Given the description of an element on the screen output the (x, y) to click on. 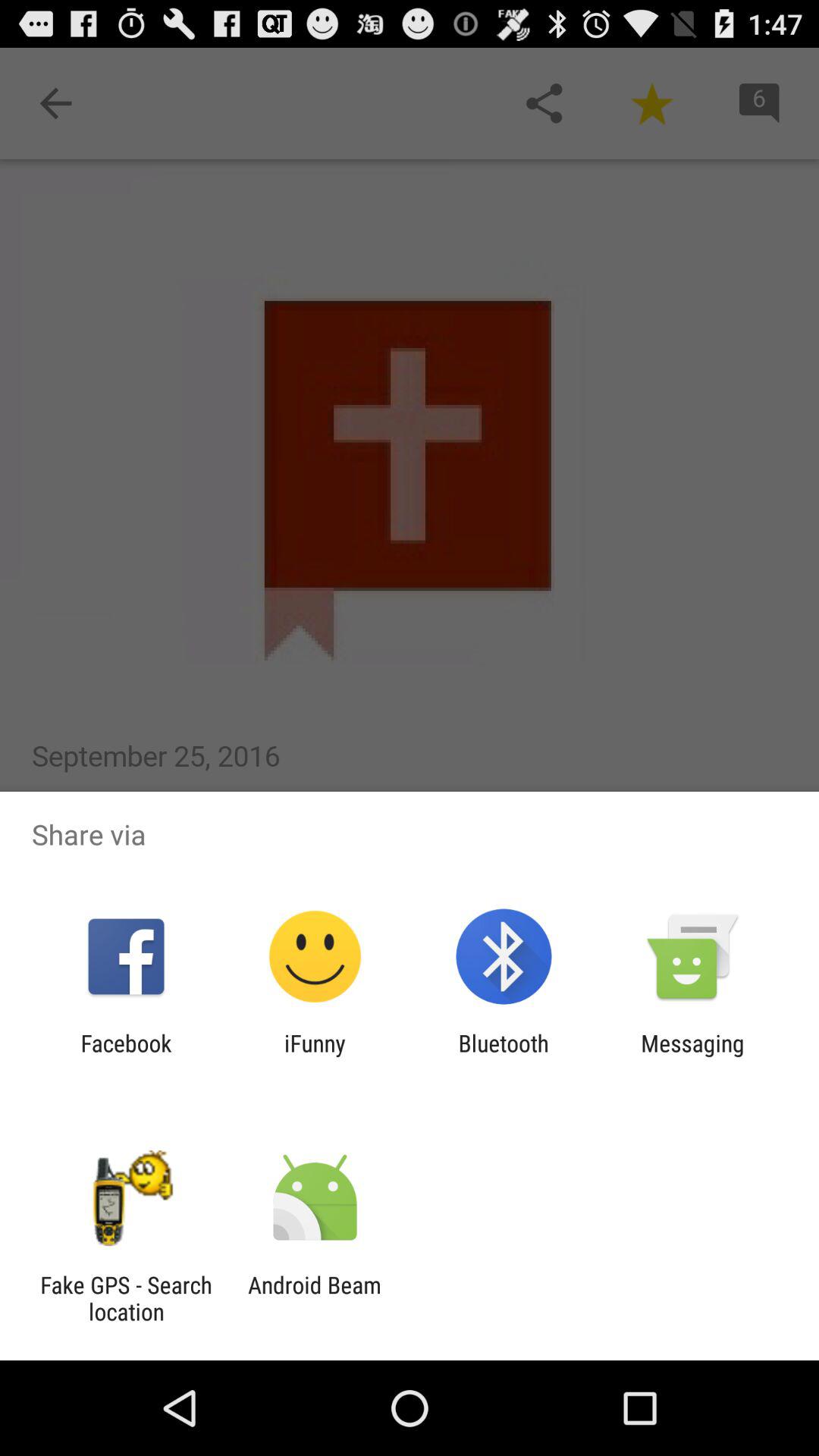
swipe until the bluetooth icon (503, 1056)
